Given the description of an element on the screen output the (x, y) to click on. 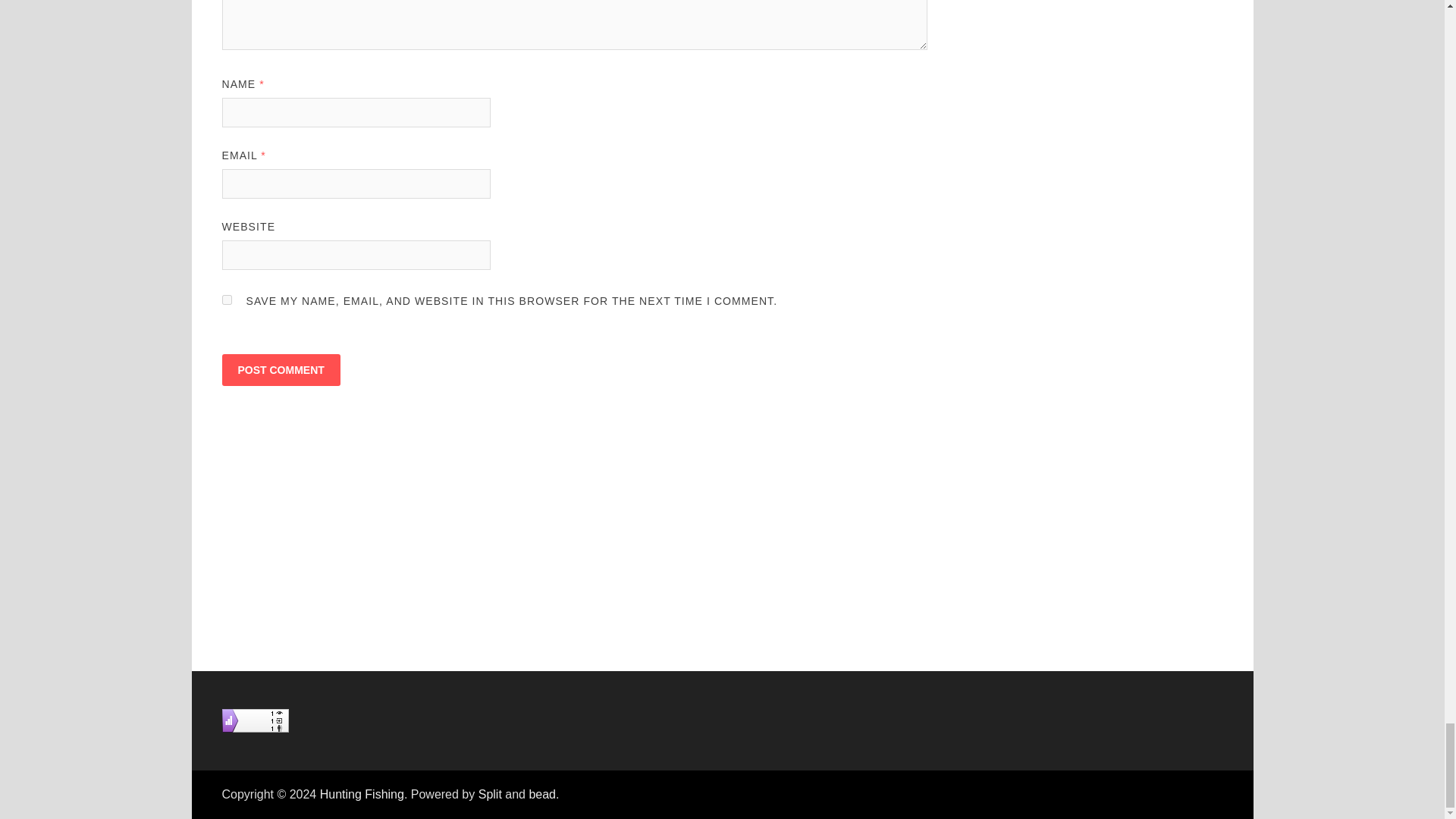
Post Comment (280, 369)
yes (226, 299)
Split (490, 793)
Hunting Fishing (362, 793)
bead (542, 793)
Post Comment (280, 369)
